Given the description of an element on the screen output the (x, y) to click on. 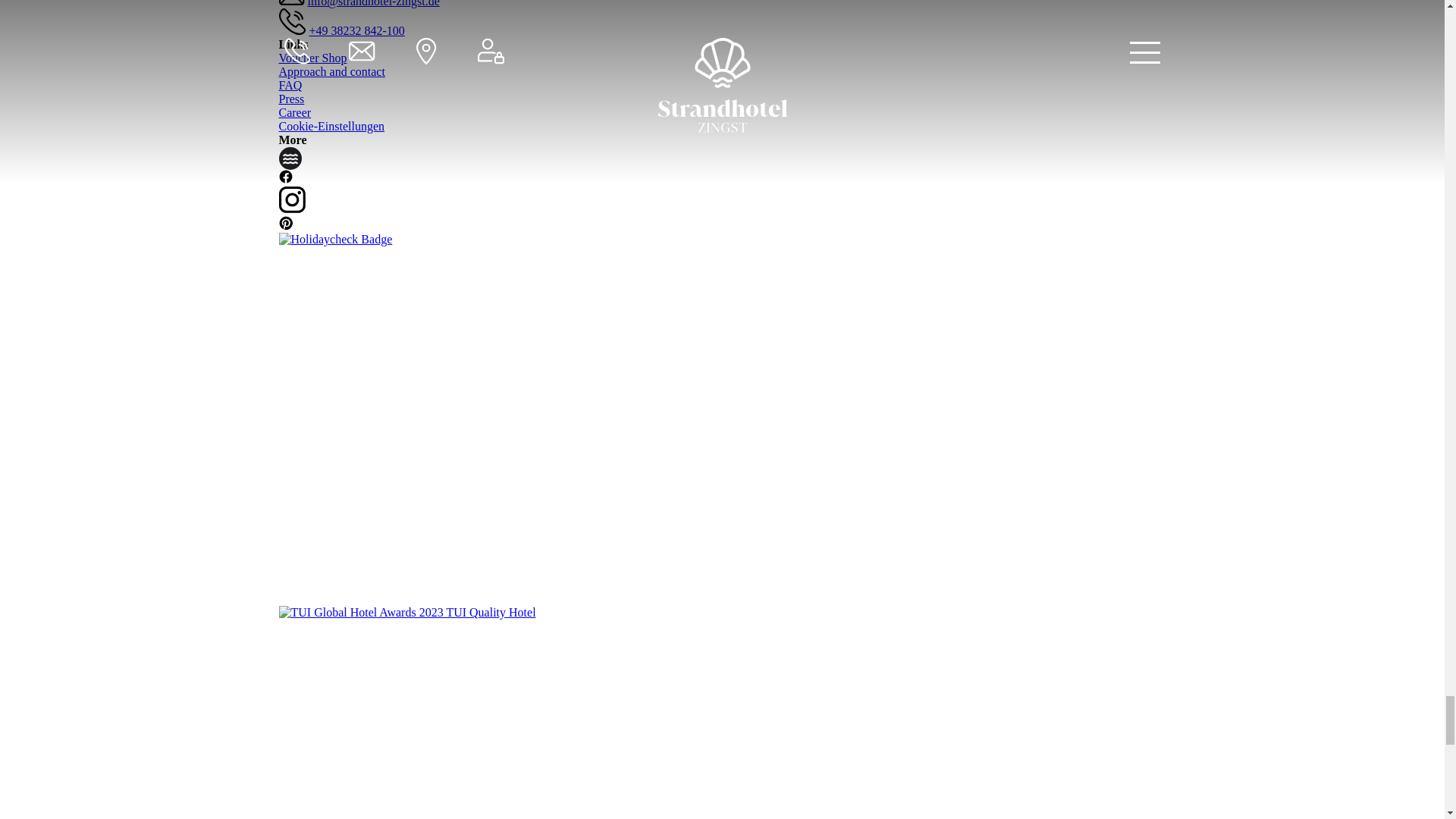
Approach and contact (332, 71)
Cookie-Einstellungen (332, 125)
Career (295, 112)
Voucher Shop (313, 57)
FAQ (290, 84)
Press (291, 98)
